Given the description of an element on the screen output the (x, y) to click on. 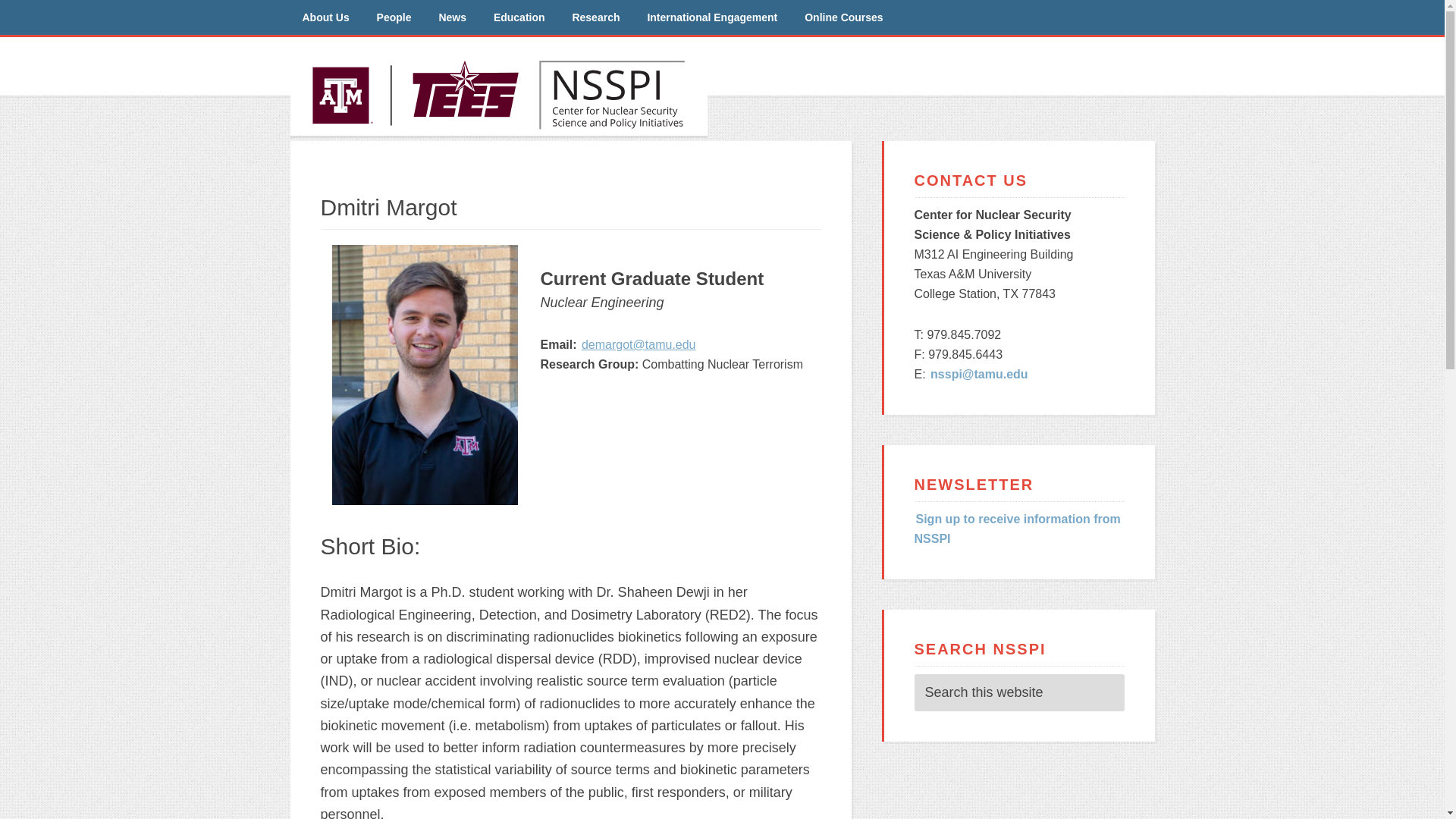
People (394, 17)
International Engagement (711, 17)
About Us (325, 17)
News (452, 17)
Research (595, 17)
Education (519, 17)
